Given the description of an element on the screen output the (x, y) to click on. 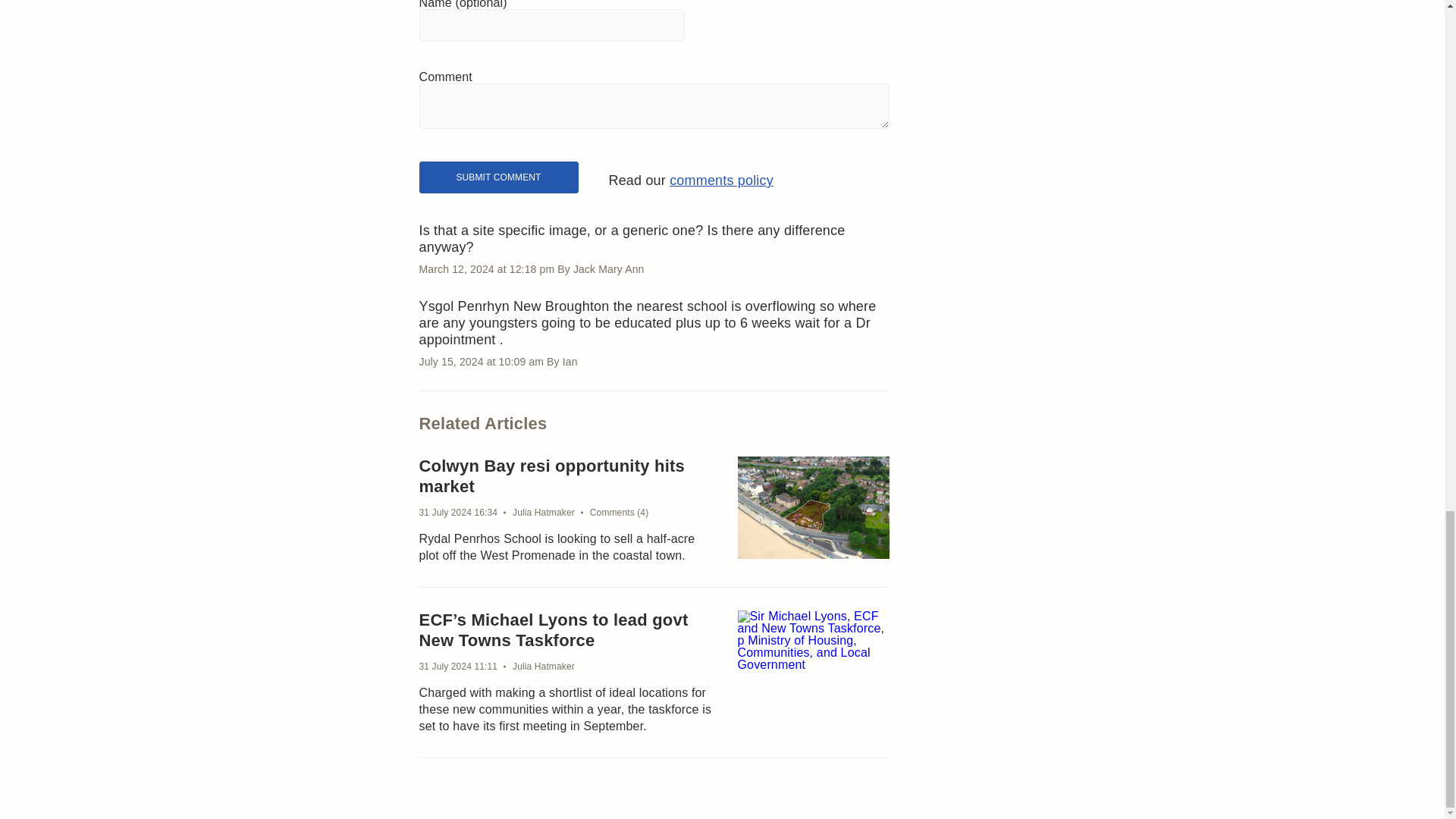
Submit Comment (498, 177)
